Given the description of an element on the screen output the (x, y) to click on. 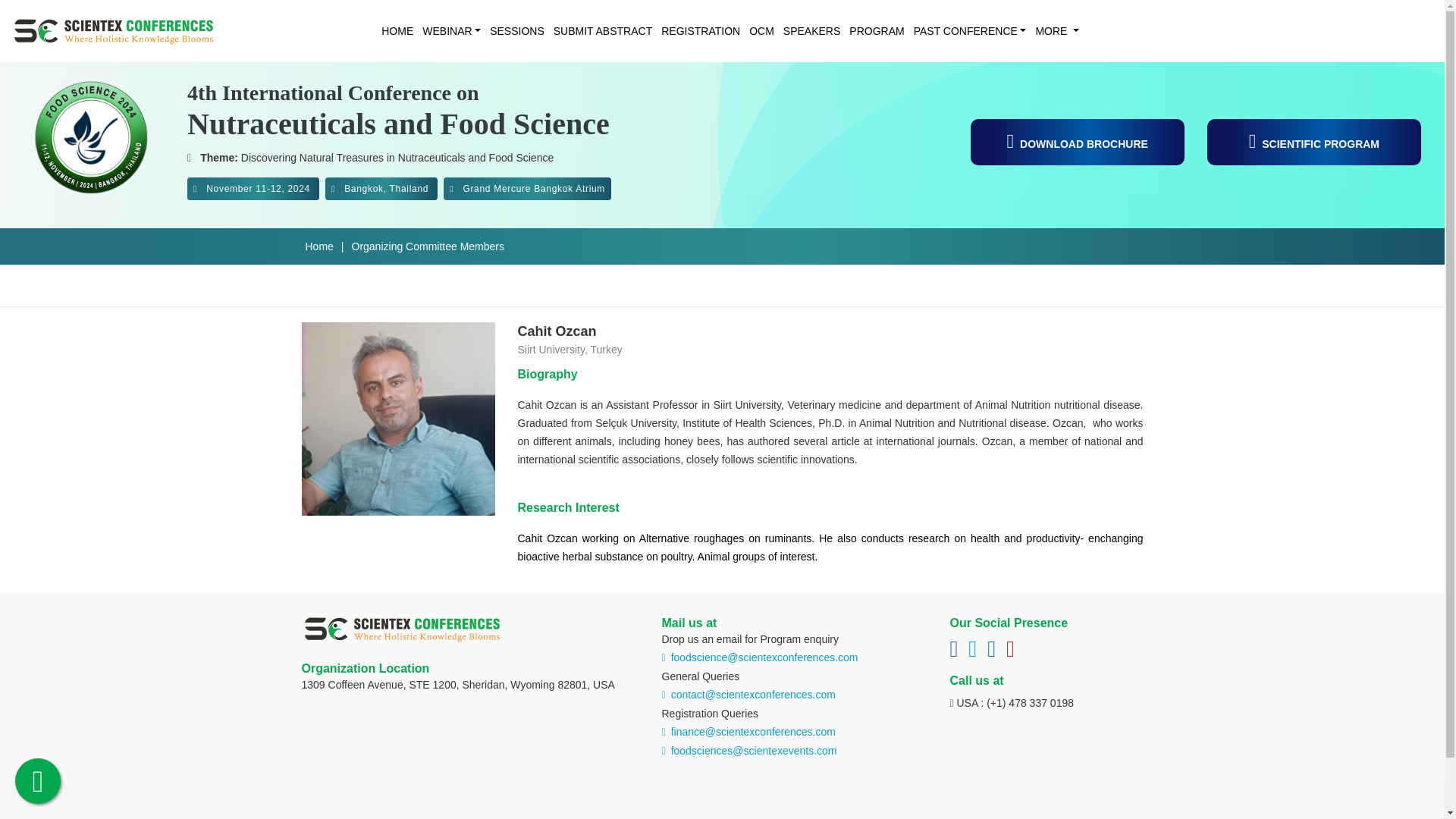
Home (318, 246)
SESSIONS (512, 30)
DOWNLOAD BROCHURE (1078, 141)
REGISTRATION (695, 30)
SUBMIT ABSTRACT (598, 30)
WEBINAR (446, 30)
PROGRAM (872, 30)
SPEAKERS (807, 30)
SCIENTIFIC PROGRAM (1314, 141)
PAST CONFERENCE (965, 30)
